Given the description of an element on the screen output the (x, y) to click on. 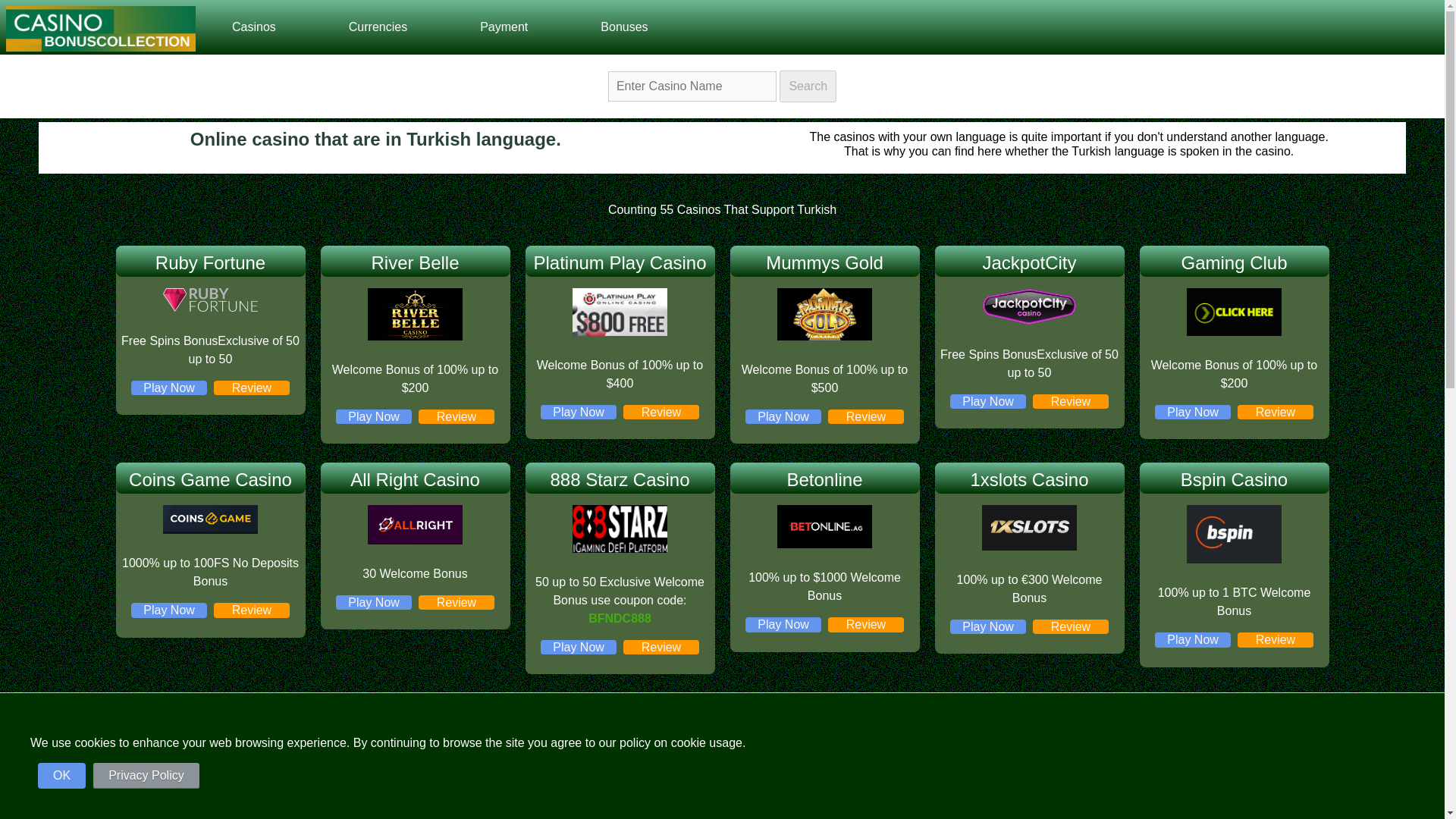
Terms and Conditions energy casino (824, 816)
Casinos (254, 27)
Search (806, 86)
Currencies (378, 27)
casinobonuscollection (100, 28)
